Given the description of an element on the screen output the (x, y) to click on. 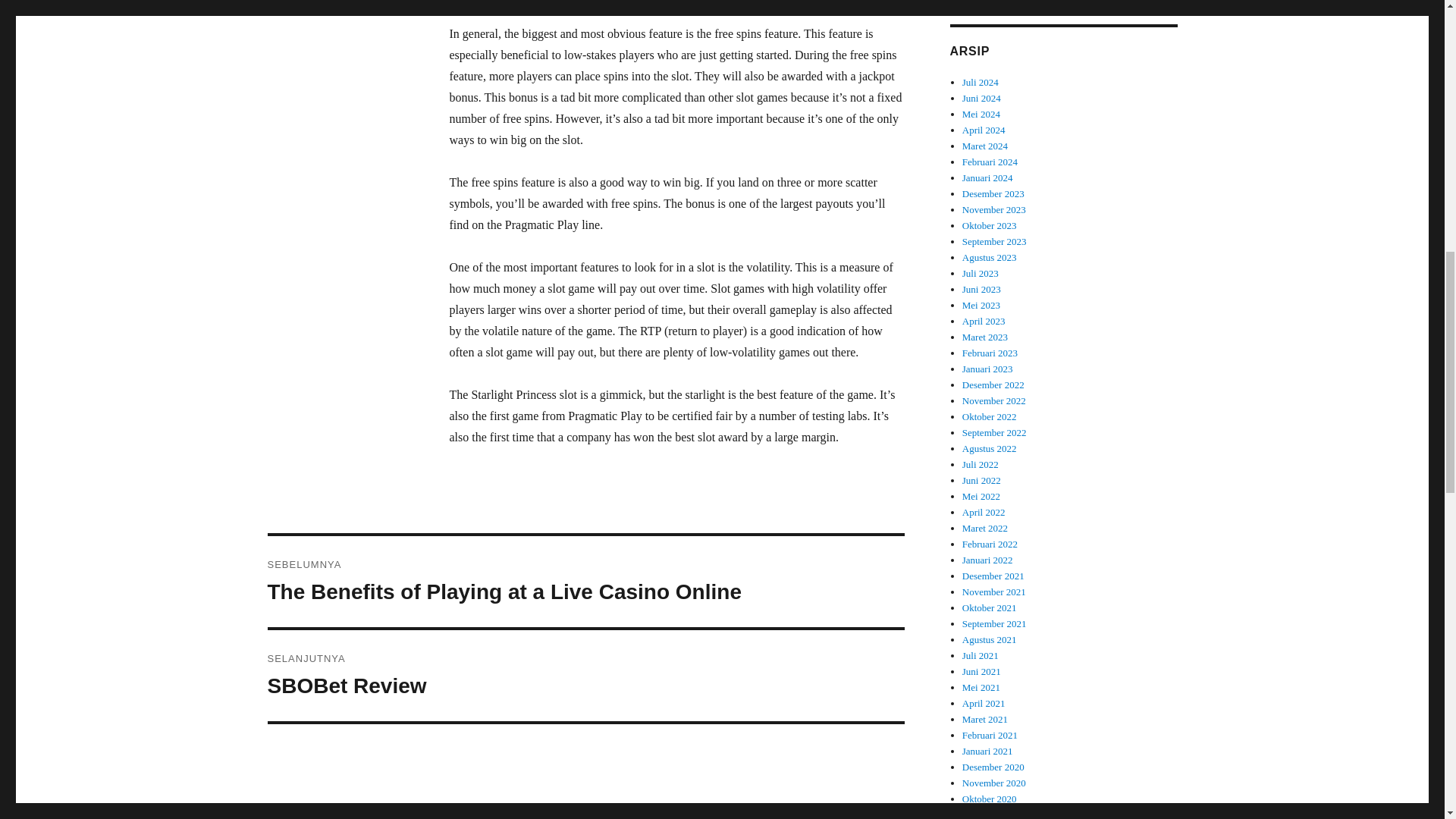
April 2024 (984, 129)
Desember 2023 (993, 193)
Maret 2024 (984, 145)
Juli 2024 (980, 81)
Juni 2024 (981, 98)
Mei 2024 (981, 113)
Februari 2024 (989, 161)
November 2023 (585, 675)
Januari 2024 (994, 209)
